Given the description of an element on the screen output the (x, y) to click on. 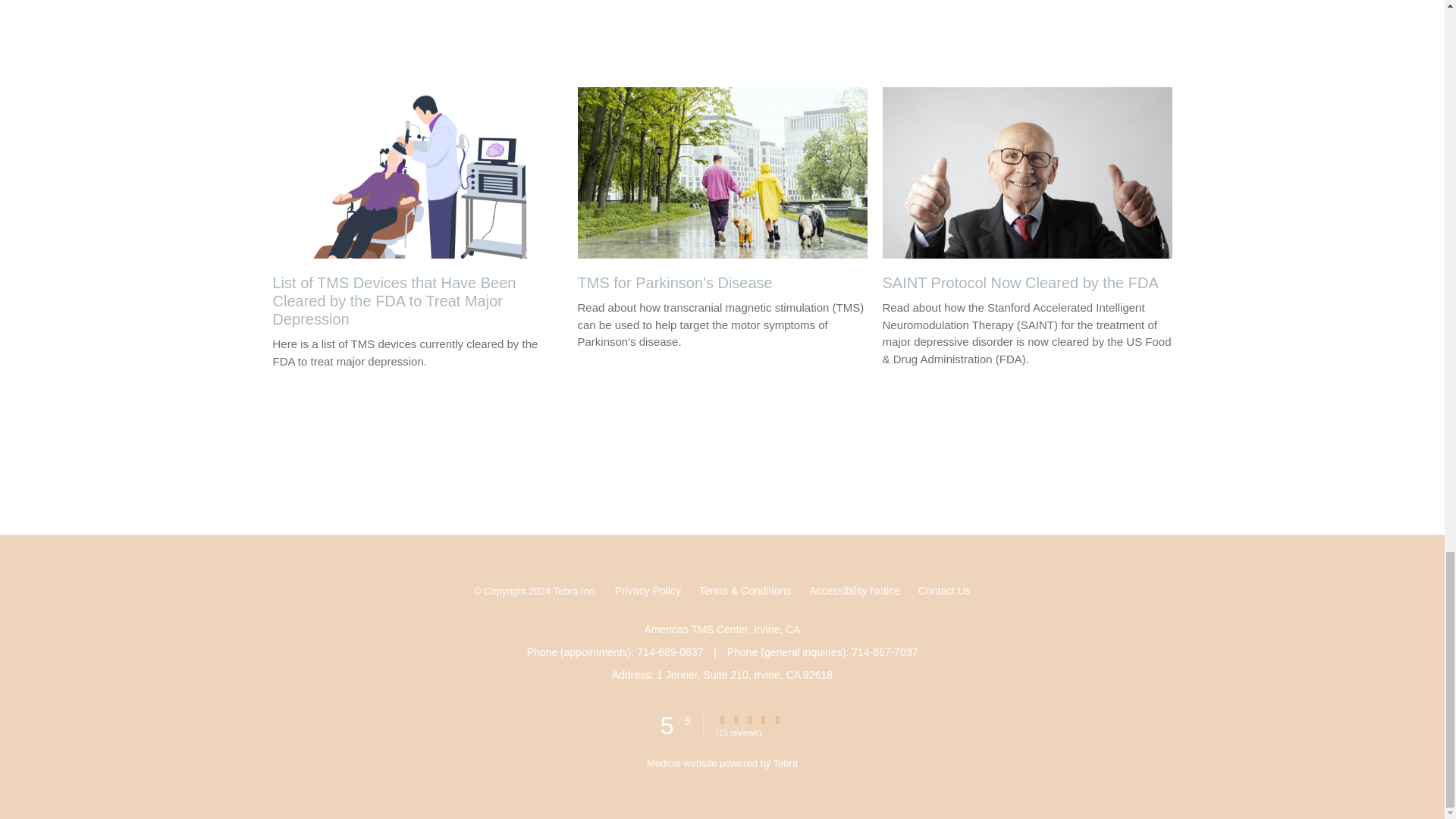
Star Rating (735, 719)
Star Rating (749, 719)
Star Rating (777, 719)
Star Rating (763, 719)
Star Rating (722, 719)
